Given the description of an element on the screen output the (x, y) to click on. 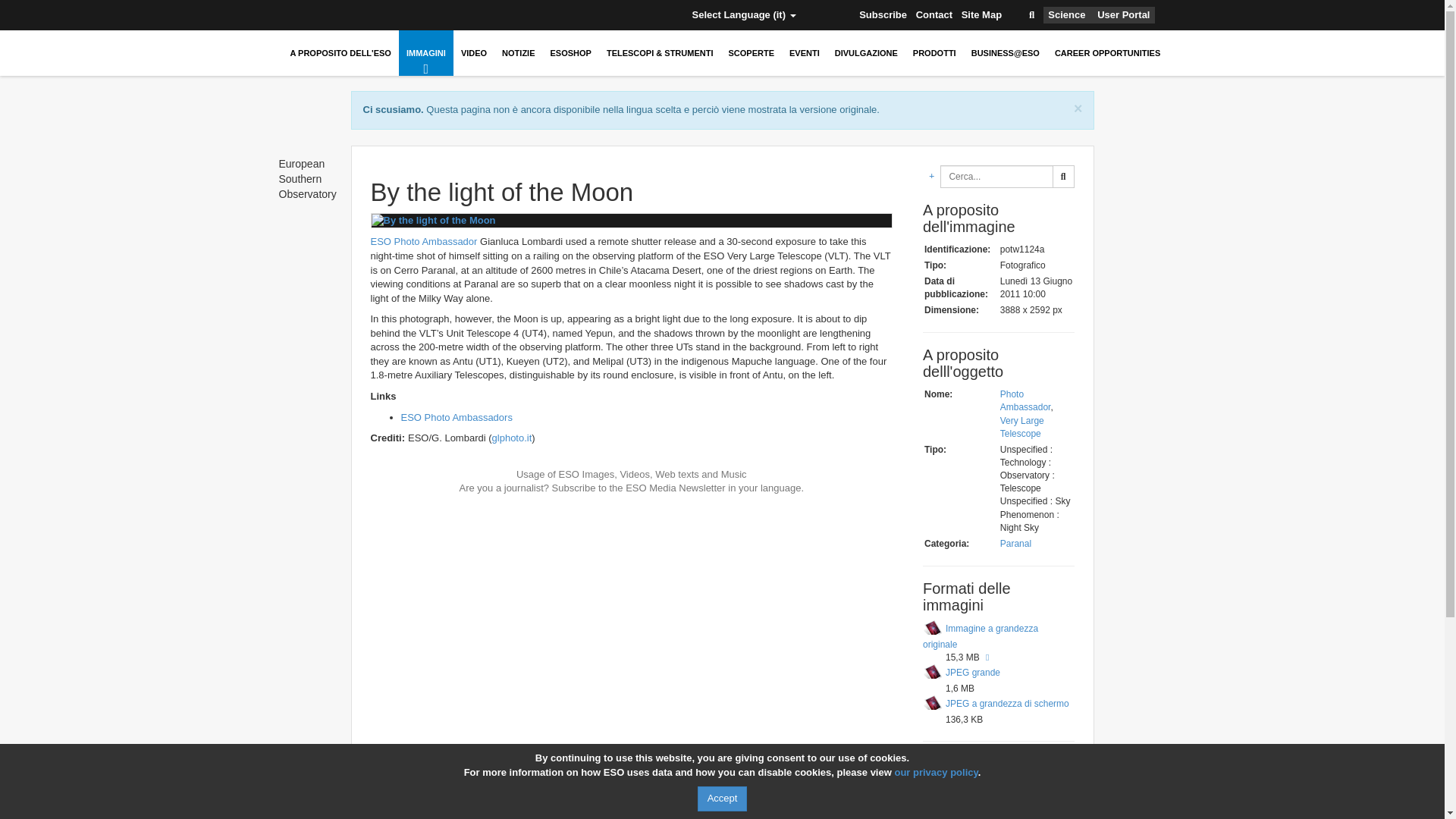
Portugal (547, 15)
Poland (525, 15)
Finland (390, 15)
Contact (933, 15)
Belgium (322, 15)
Czechia (344, 15)
Denmark (366, 15)
User Portal (1123, 14)
Accept (722, 798)
Site Map (981, 15)
